Given the description of an element on the screen output the (x, y) to click on. 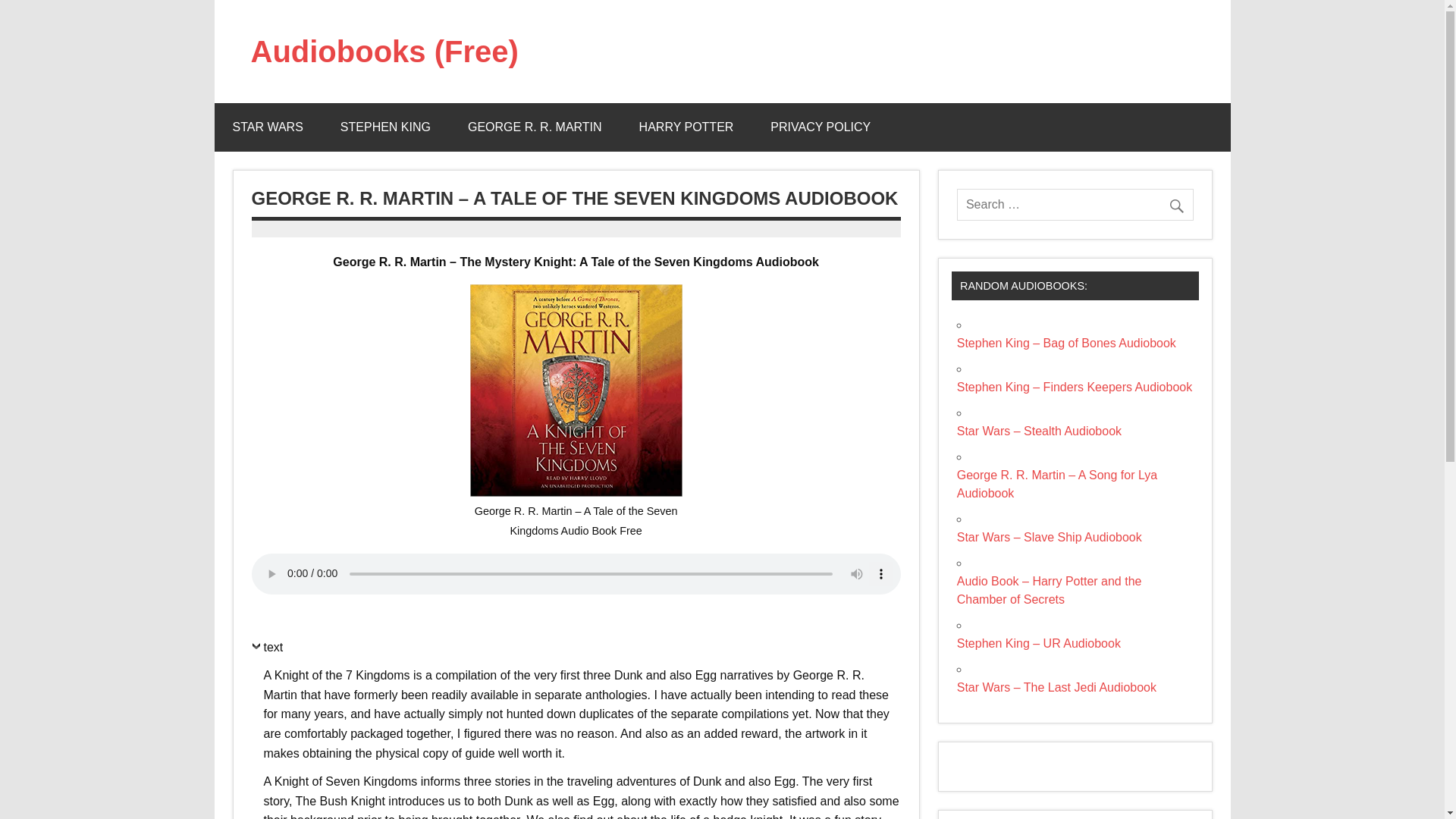
GEORGE R. R. MARTIN (534, 127)
PRIVACY POLICY (820, 127)
text (267, 650)
HARRY POTTER (686, 127)
STAR WARS (267, 127)
STEPHEN KING (384, 127)
